Given the description of an element on the screen output the (x, y) to click on. 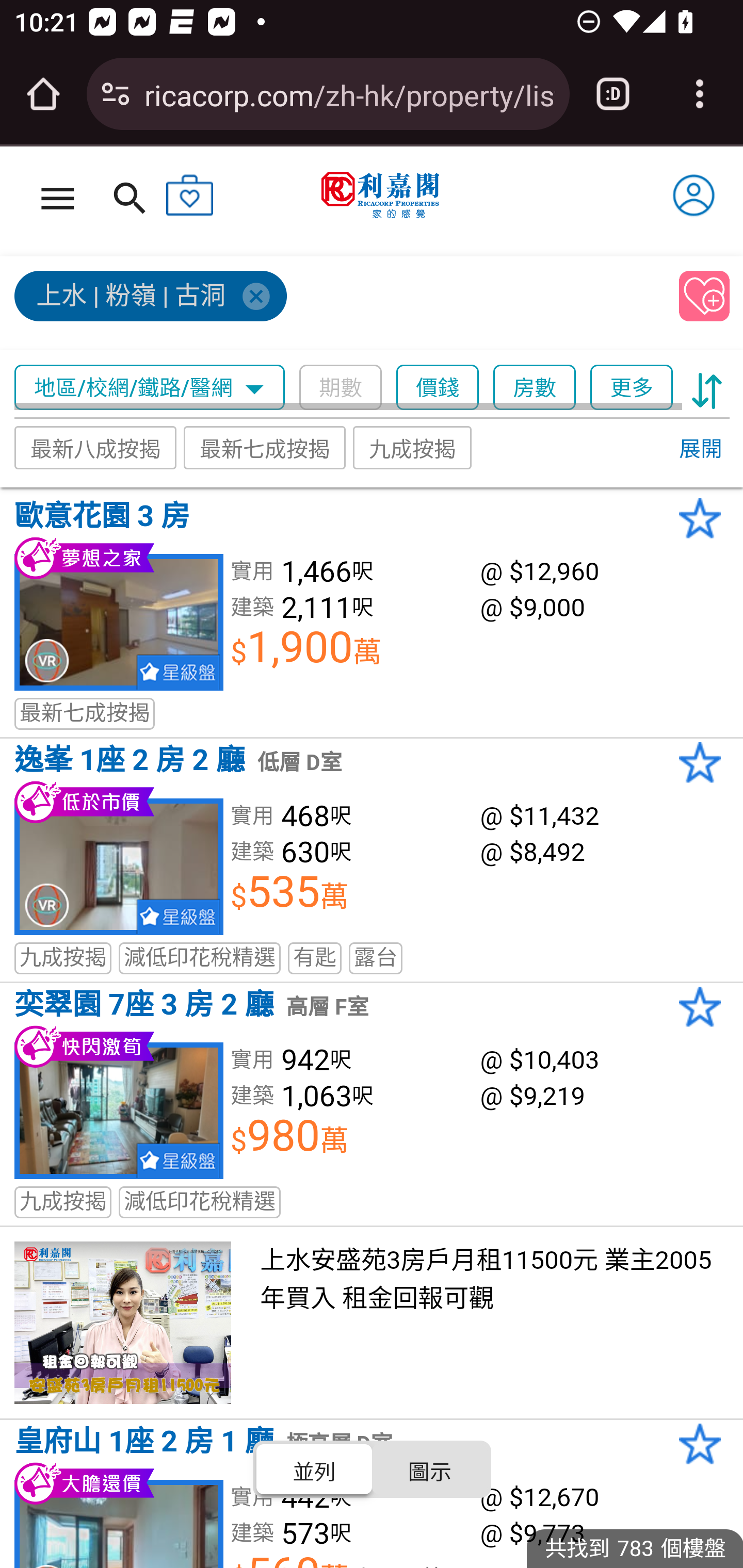
Open the home page (43, 93)
Connection is secure (115, 93)
Switch or close tabs (612, 93)
Customize and control Google Chrome (699, 93)
上水 | 粉嶺 | 古洞 (338, 304)
地區/校網/鐵路/醫網 (149, 387)
期數 (339, 387)
價錢 (437, 387)
房數 (535, 387)
更多 (630, 387)
sort (706, 387)
最新八成按揭 (96, 446)
最新七成按揭 (264, 446)
九成按揭 (412, 446)
並列 (314, 1468)
圖示 (429, 1468)
